Given the description of an element on the screen output the (x, y) to click on. 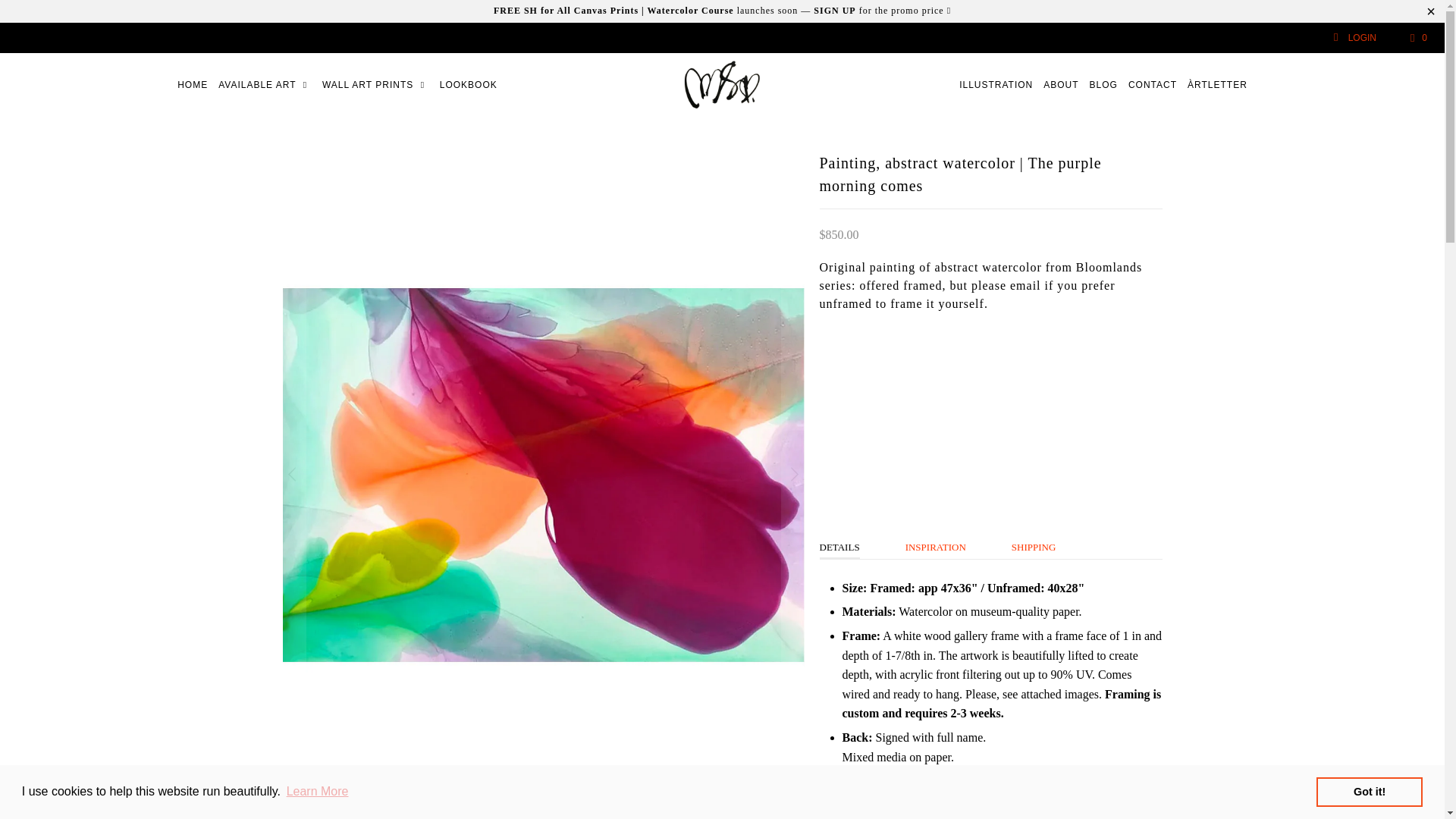
Abstract Art, Modern Art by Marta Spendowska (721, 85)
Got it! (1369, 791)
YouTube video player (989, 420)
My Account  (1353, 37)
Learn More (316, 791)
